Given the description of an element on the screen output the (x, y) to click on. 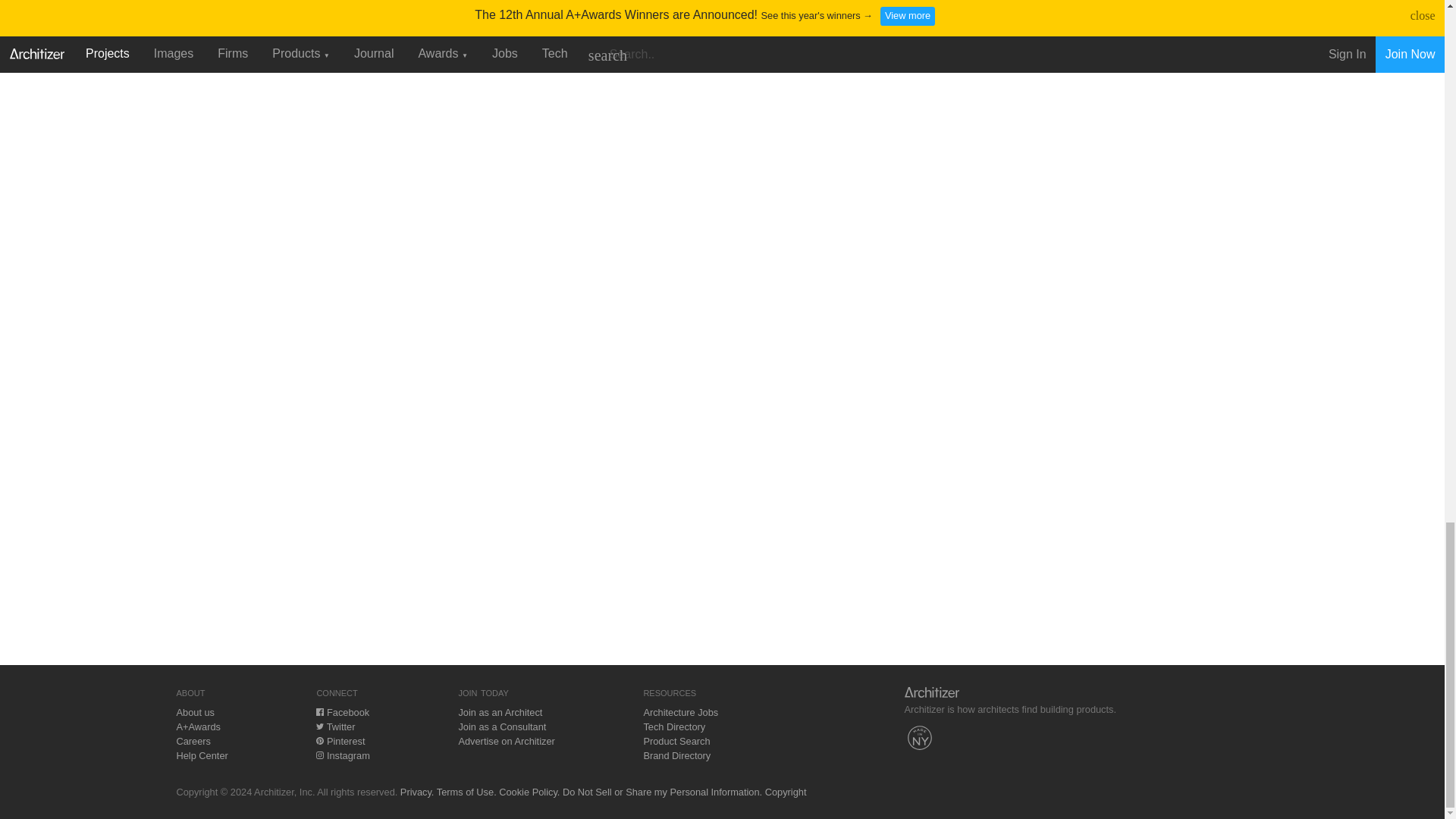
Made in New York icon (919, 737)
Facebook icon (319, 711)
Tech Directory (673, 726)
Help Center (201, 755)
Facebook (342, 712)
Pinterest (340, 740)
About us (195, 712)
Product Search (676, 740)
Instagram icon (319, 755)
Instagram (342, 755)
